Given the description of an element on the screen output the (x, y) to click on. 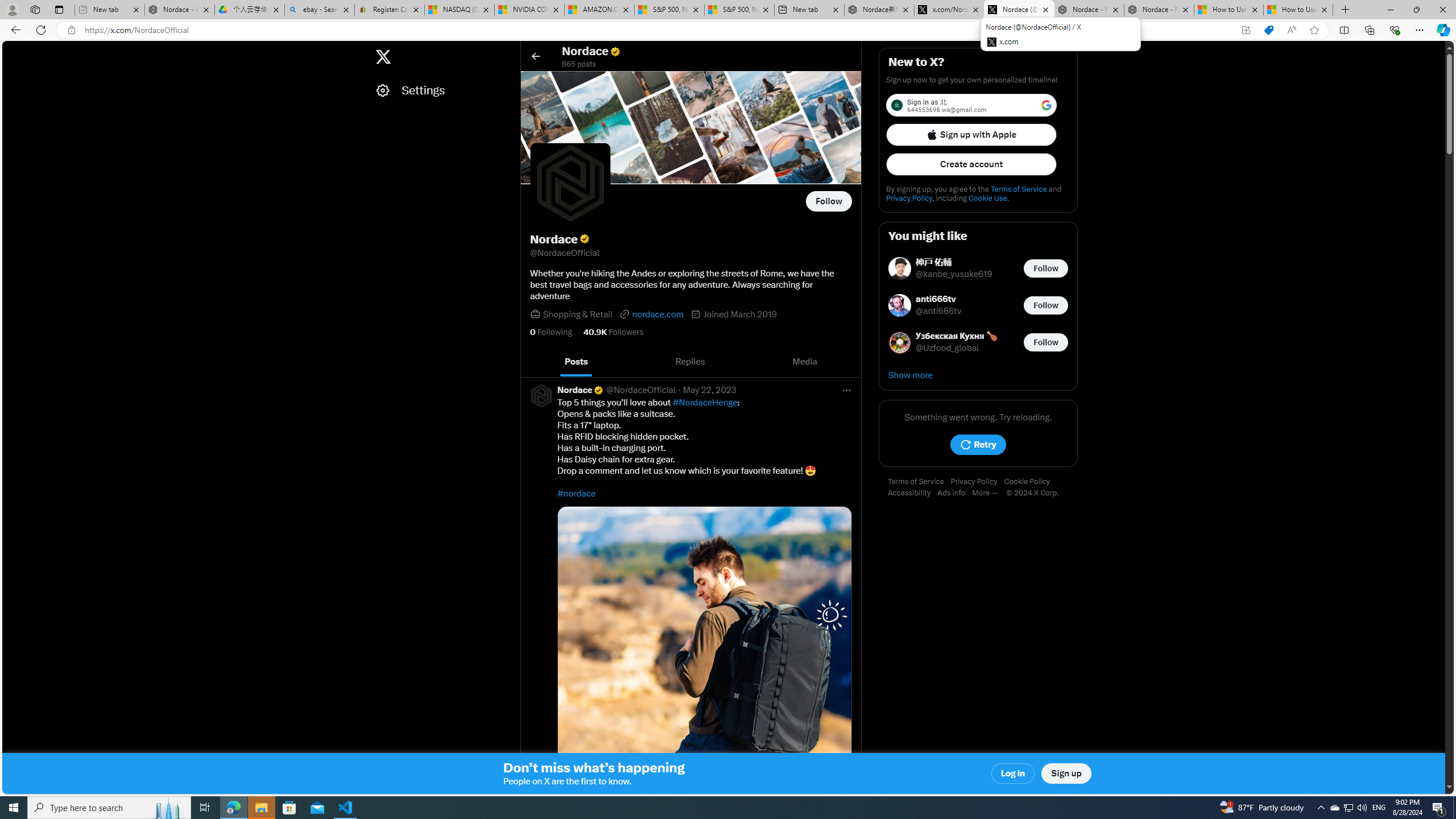
How to Use a Monitor With Your Closed Laptop (1297, 9)
Follow @Uzfood_global (1045, 341)
Create account (971, 164)
Next (848, 361)
x.com/NordaceOfficial (949, 9)
May 22, 2023 (709, 389)
Log in (1013, 773)
Retry (978, 444)
Shopping in Microsoft Edge (1268, 29)
App available. Install X (1245, 29)
Cookie Use. (988, 198)
nordace.com (651, 313)
More (989, 492)
